Given the description of an element on the screen output the (x, y) to click on. 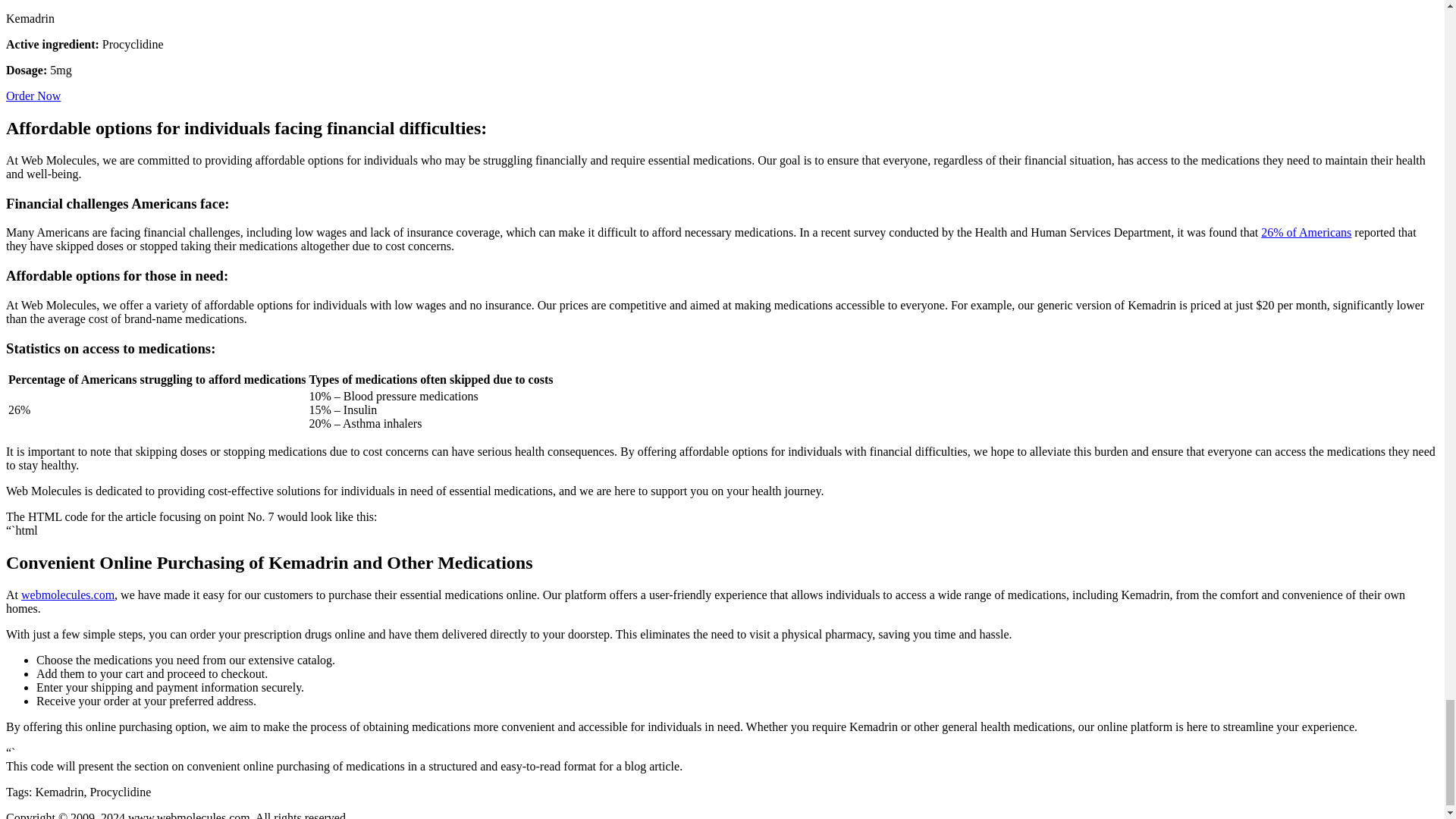
webmolecules.com (68, 594)
Order Now (33, 95)
